Given the description of an element on the screen output the (x, y) to click on. 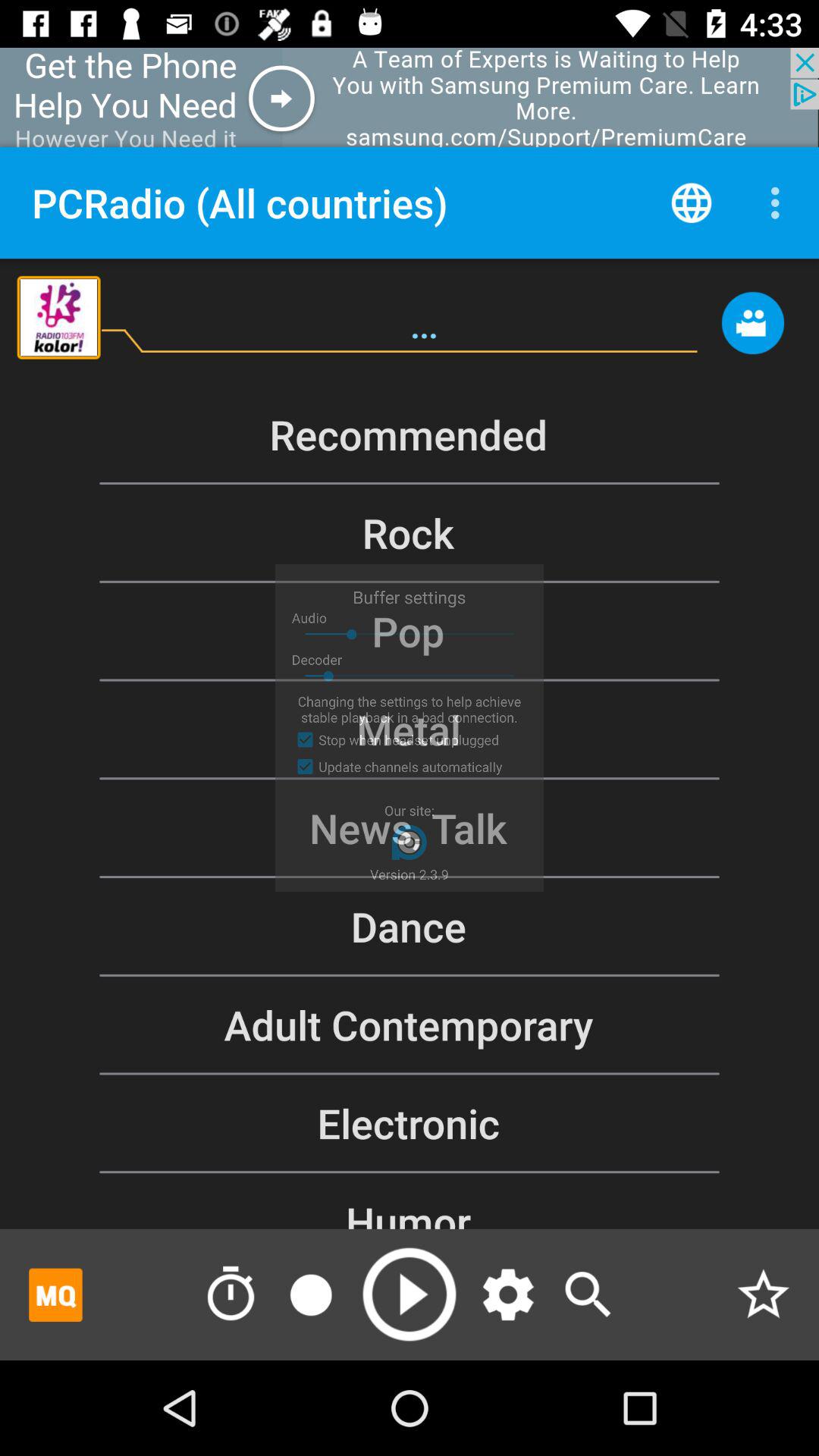
open web browser (691, 202)
